Given the description of an element on the screen output the (x, y) to click on. 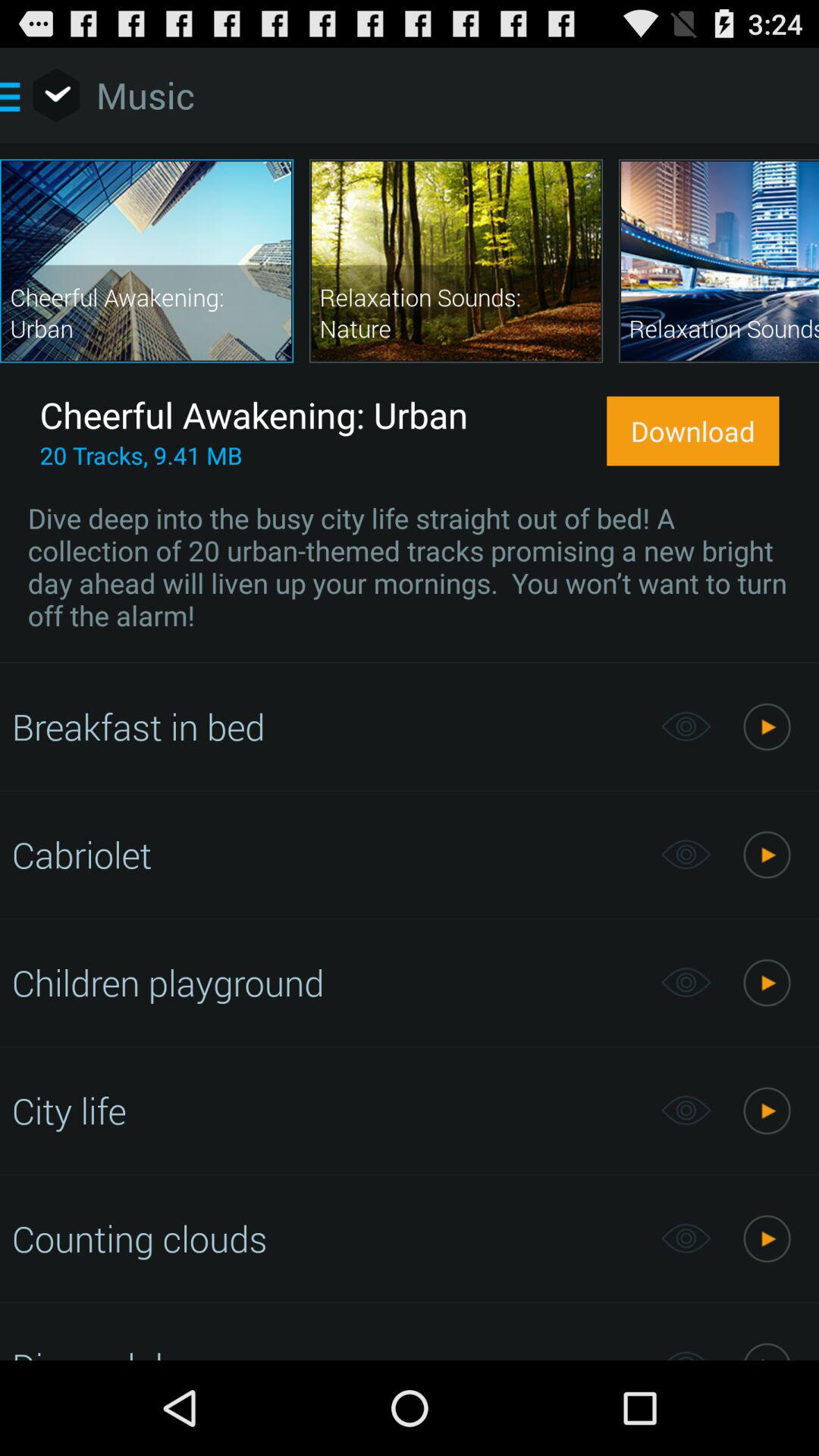
open the app above the disco club (327, 1238)
